Given the description of an element on the screen output the (x, y) to click on. 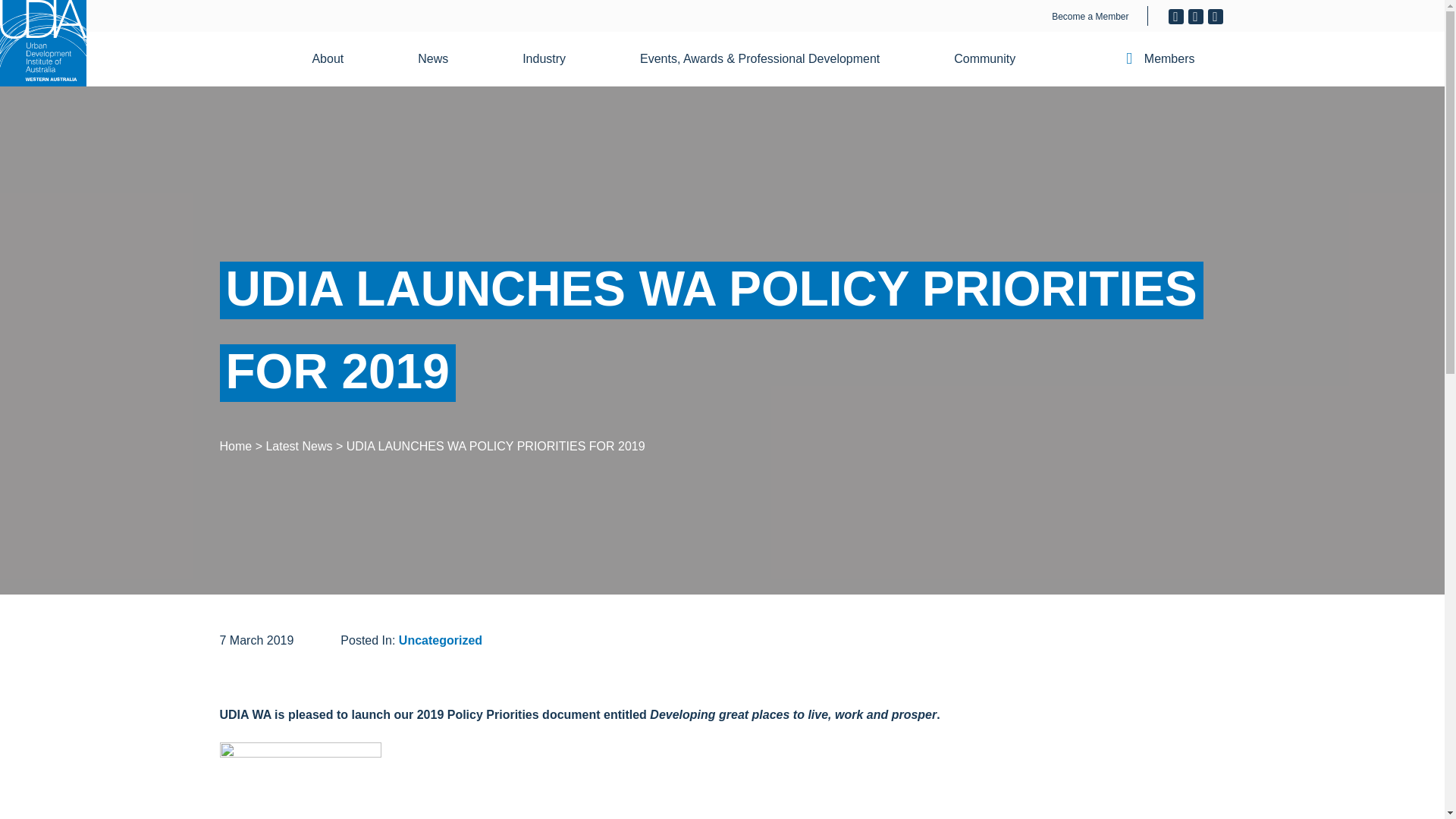
About (336, 59)
Industry (553, 59)
Become a Member (1089, 16)
Logo (42, 43)
News (442, 59)
